Given the description of an element on the screen output the (x, y) to click on. 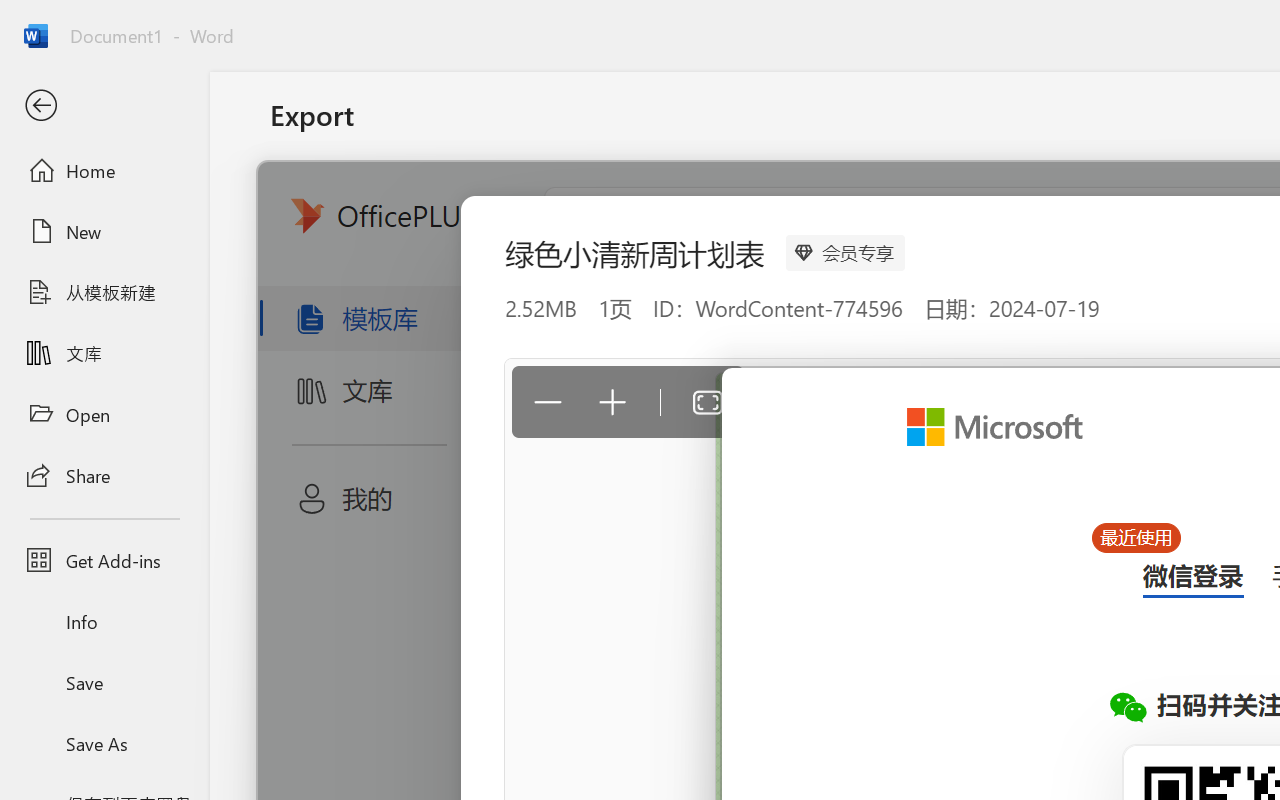
Back (104, 106)
New (104, 231)
Create PDF/XPS Document (507, 205)
Info (104, 621)
Save As (104, 743)
Change File Type (507, 291)
